Given the description of an element on the screen output the (x, y) to click on. 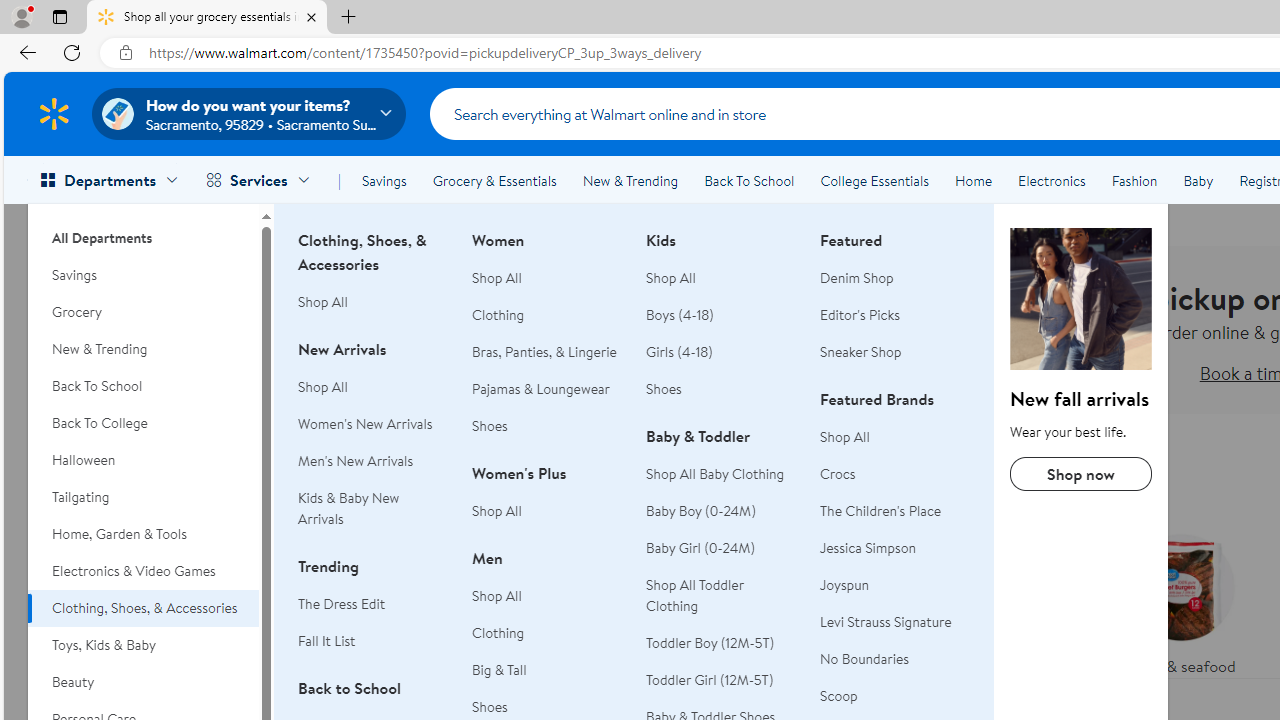
The Children's Place (895, 511)
Scoop (895, 696)
Men's New Arrivals (355, 460)
Toys, Kids & Baby (143, 645)
Scoop (838, 696)
Denim Shop (856, 277)
Women's New Arrivals (365, 423)
Men's New Arrivals (373, 461)
Halloween (143, 460)
Big & Tall (547, 670)
Halloween (143, 460)
Shoes (664, 388)
New & Trending (630, 180)
Beauty (143, 682)
Baby Boy (0-24M) (701, 511)
